Given the description of an element on the screen output the (x, y) to click on. 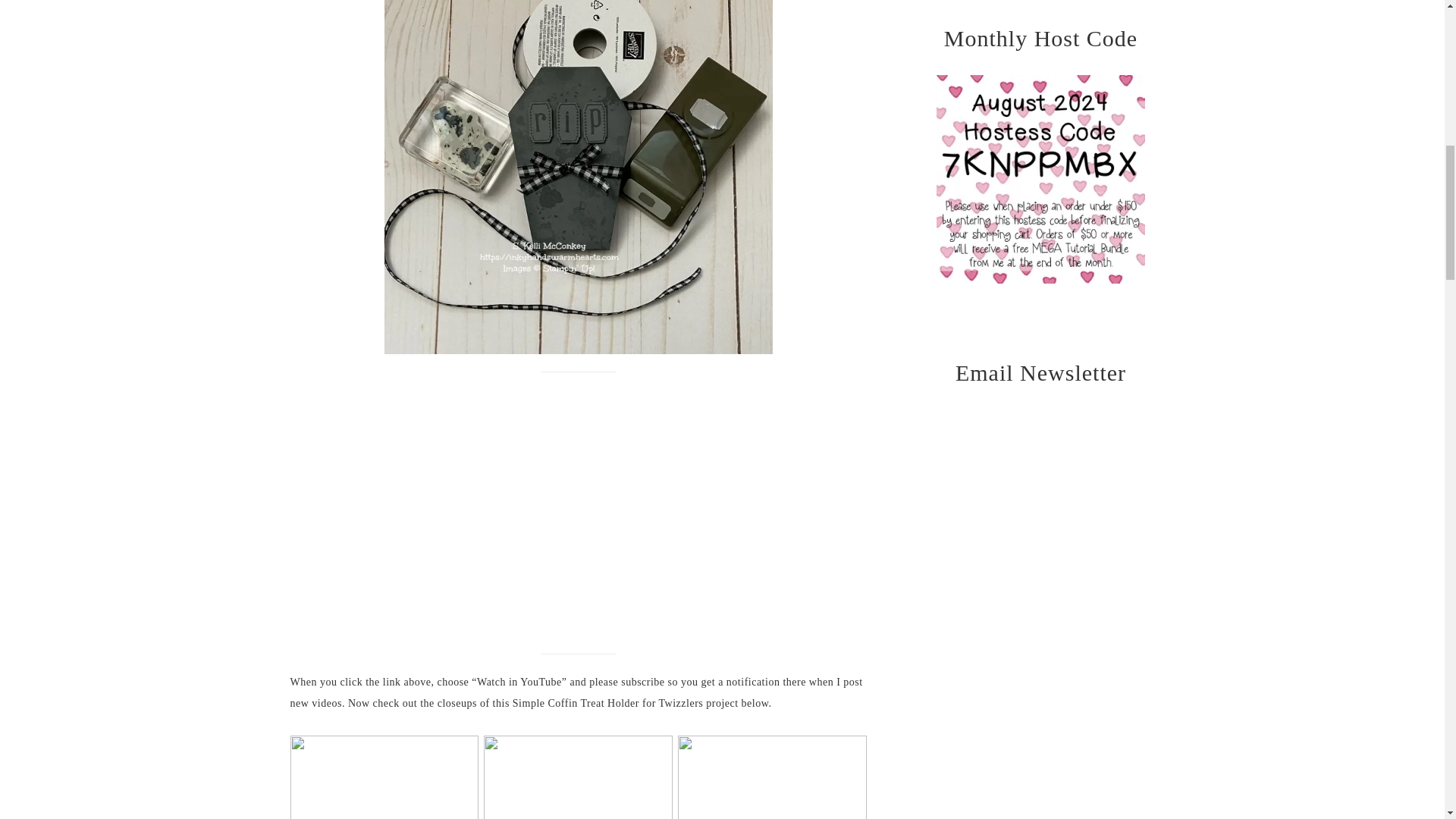
YouTube video player (501, 508)
